Given the description of an element on the screen output the (x, y) to click on. 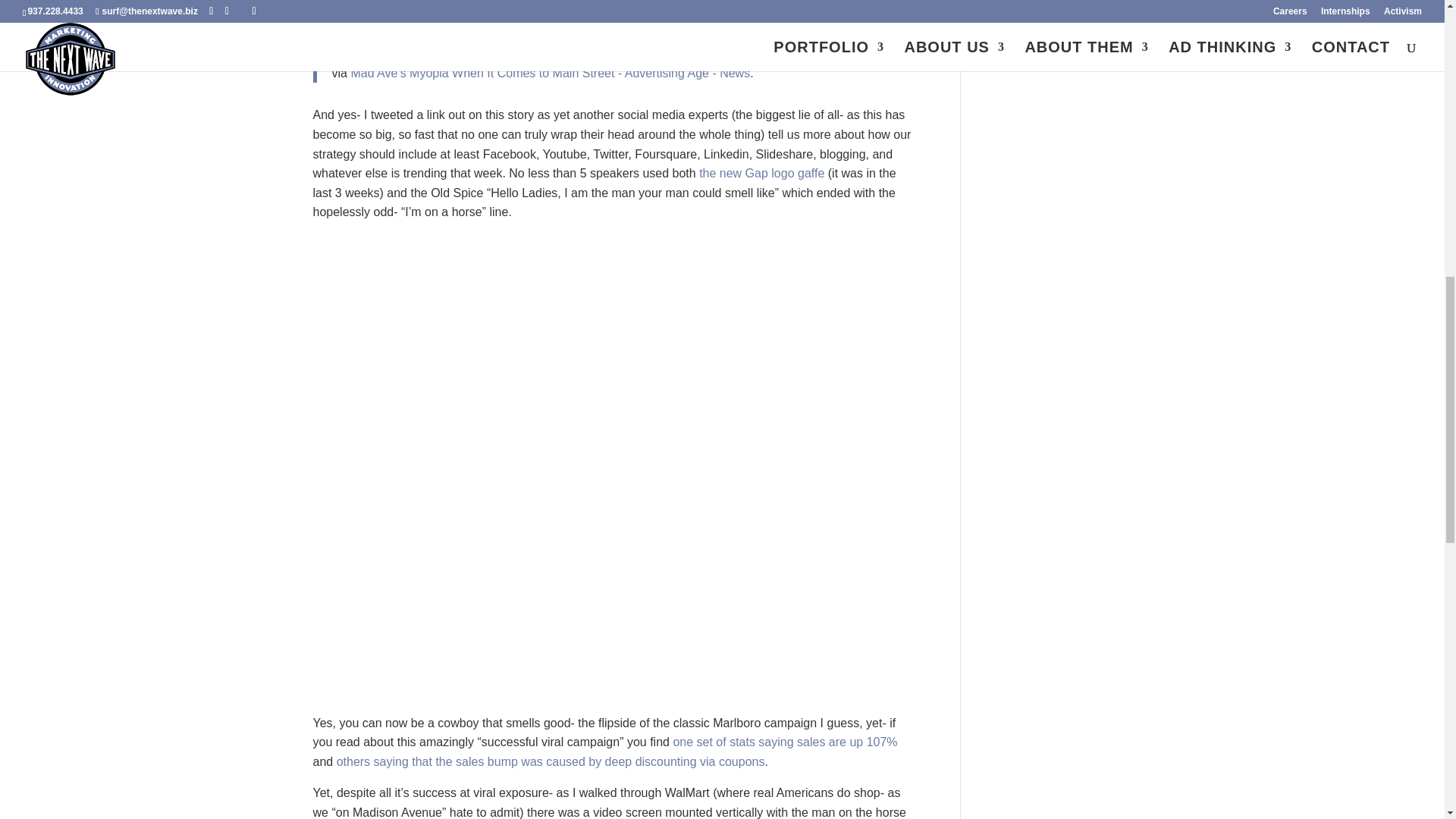
link to WARC on effectiveness of campaigns that win awards (784, 741)
link to Ad age on advertising myopia (549, 72)
link to HufFPo on Gap Logo gaffe (761, 173)
